Given the description of an element on the screen output the (x, y) to click on. 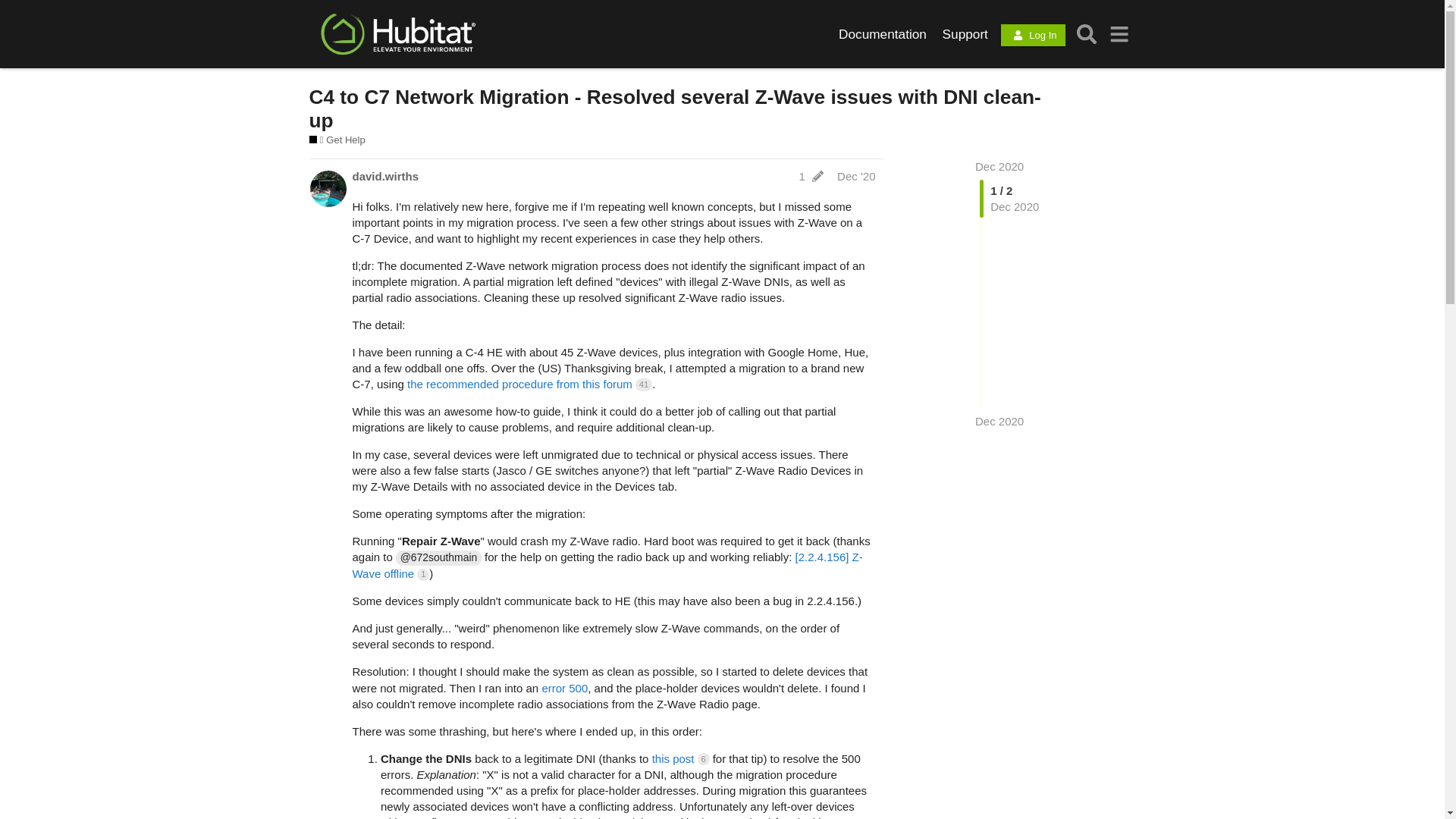
error 500 (564, 686)
menu (1119, 34)
Hubitat Elevation Documentation (882, 33)
Search (1086, 34)
41 clicks (643, 384)
1 click (422, 574)
6 clicks (703, 758)
1 (812, 175)
the recommended procedure from this forum 41 (529, 383)
